Given the description of an element on the screen output the (x, y) to click on. 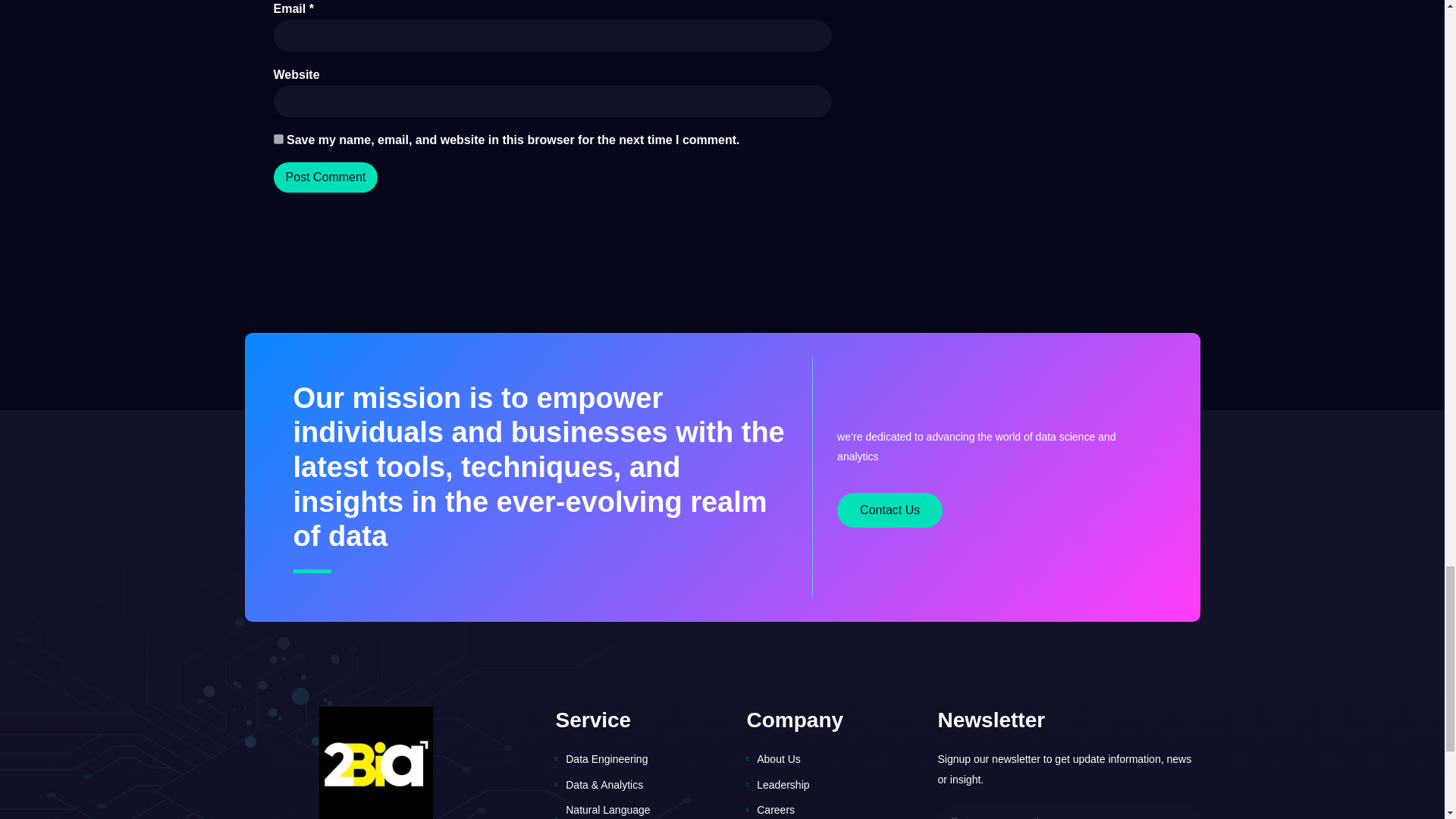
yes (277, 139)
Post Comment (325, 177)
